Given the description of an element on the screen output the (x, y) to click on. 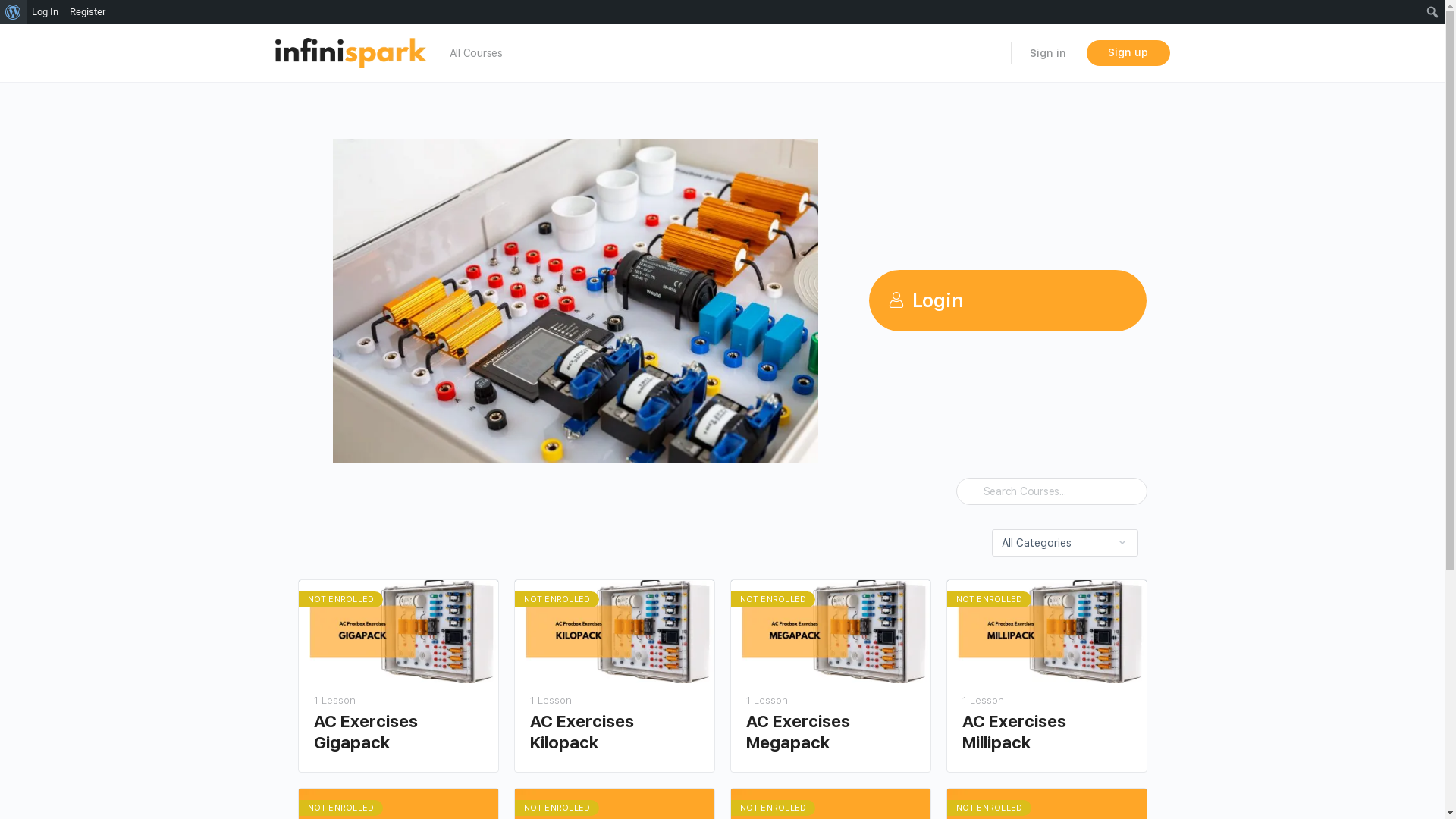
AC Exercises Gigapack Element type: text (398, 732)
AC Exercises Megapack Element type: text (830, 732)
Log In Element type: text (45, 12)
NOT ENROLLED Element type: text (1045, 632)
Sign in Element type: text (1047, 52)
NOT ENROLLED Element type: text (398, 632)
Login Element type: text (1007, 300)
AC Exercises Kilopack Element type: text (613, 732)
Sign up Element type: text (1127, 52)
NOT ENROLLED Element type: text (830, 632)
Register Element type: text (87, 12)
NOT ENROLLED Element type: text (613, 632)
AC Exercises Millipack Element type: text (1045, 732)
All Courses Element type: text (475, 52)
Search Element type: text (15, 12)
